Given the description of an element on the screen output the (x, y) to click on. 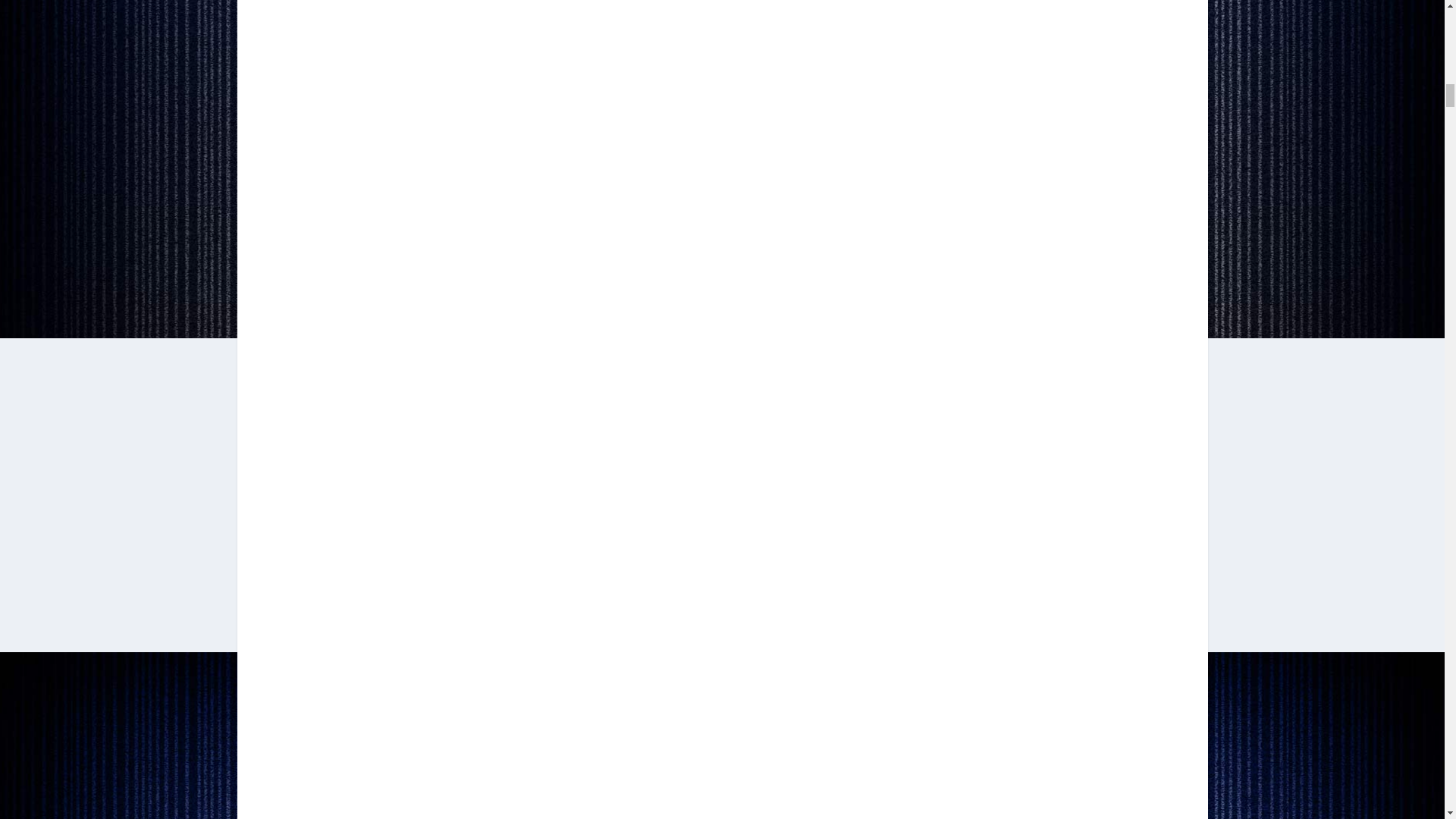
Trump Says You Need Voter ID To Buy Cereal (721, 54)
